Given the description of an element on the screen output the (x, y) to click on. 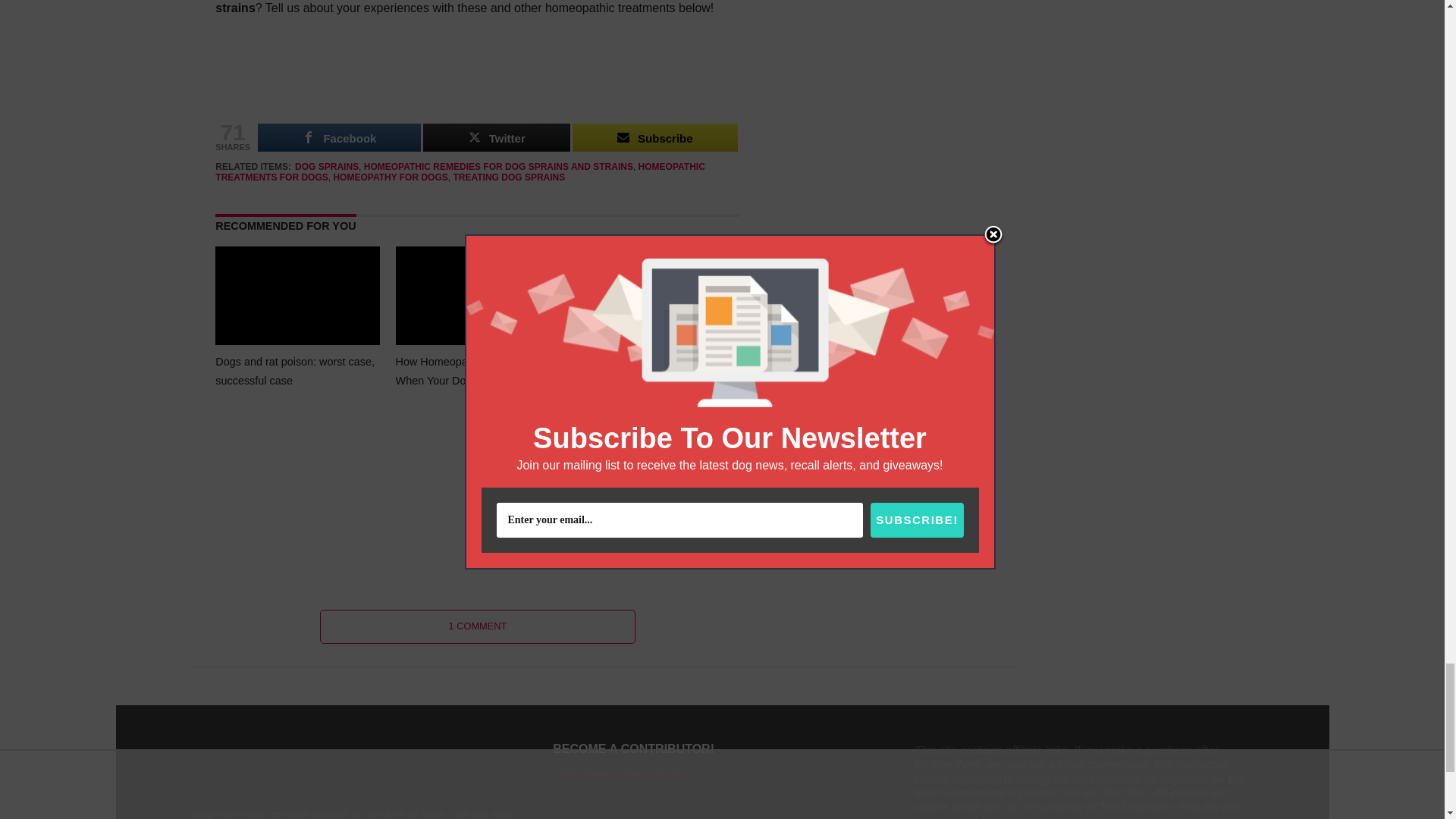
Dogs And Rat Poison: Worst Case, Successful Case 4 (297, 297)
Dogs and rat poison: worst case, successful case (297, 345)
Homeopathic Remedies For Dog Sprains And Strains 3 (477, 80)
